Given the description of an element on the screen output the (x, y) to click on. 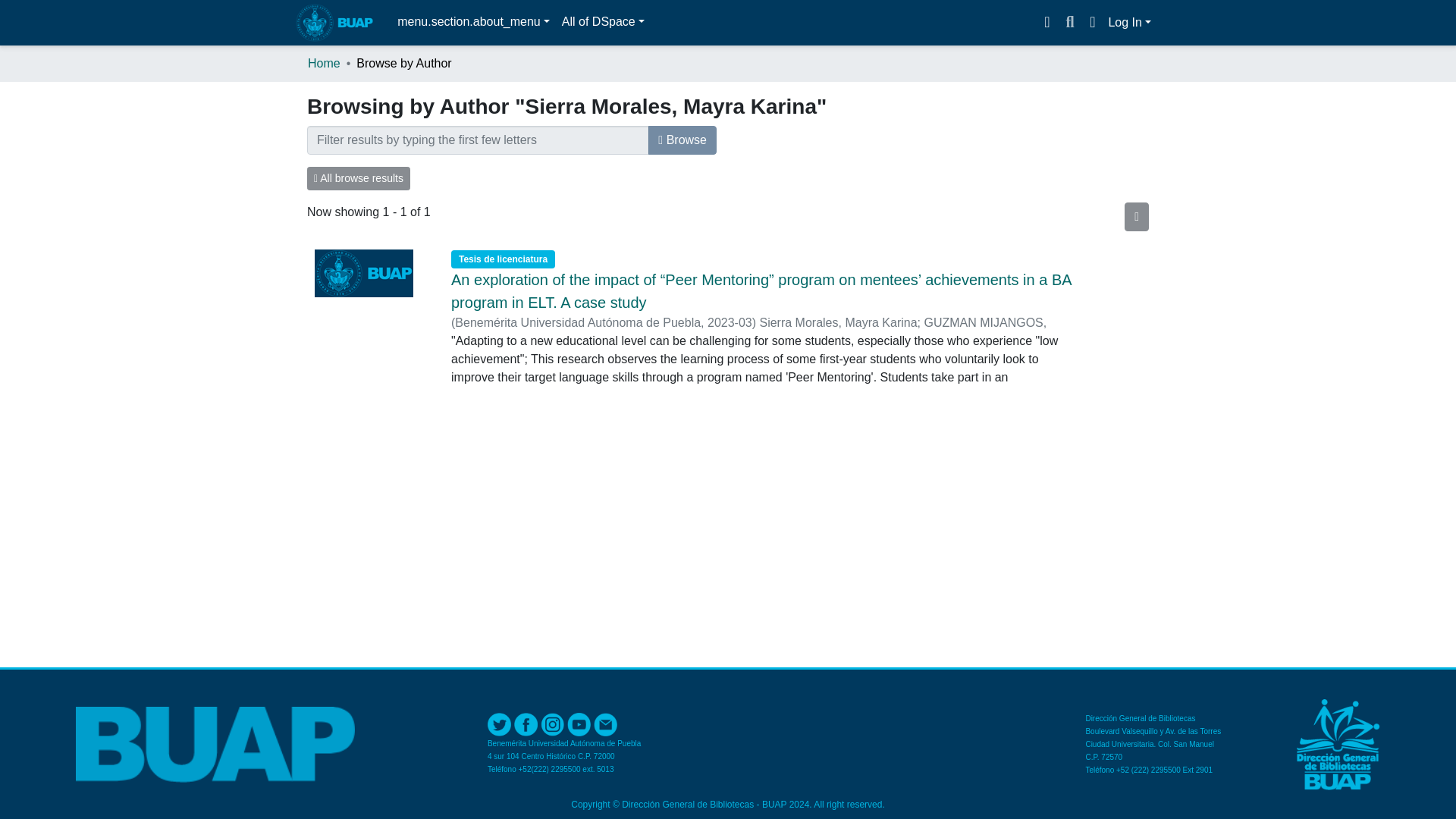
Log In (1129, 21)
All browse results (358, 178)
Search (1069, 22)
All of DSpace (603, 21)
Language switch (1092, 22)
Browse (681, 140)
Home (323, 63)
